Given the description of an element on the screen output the (x, y) to click on. 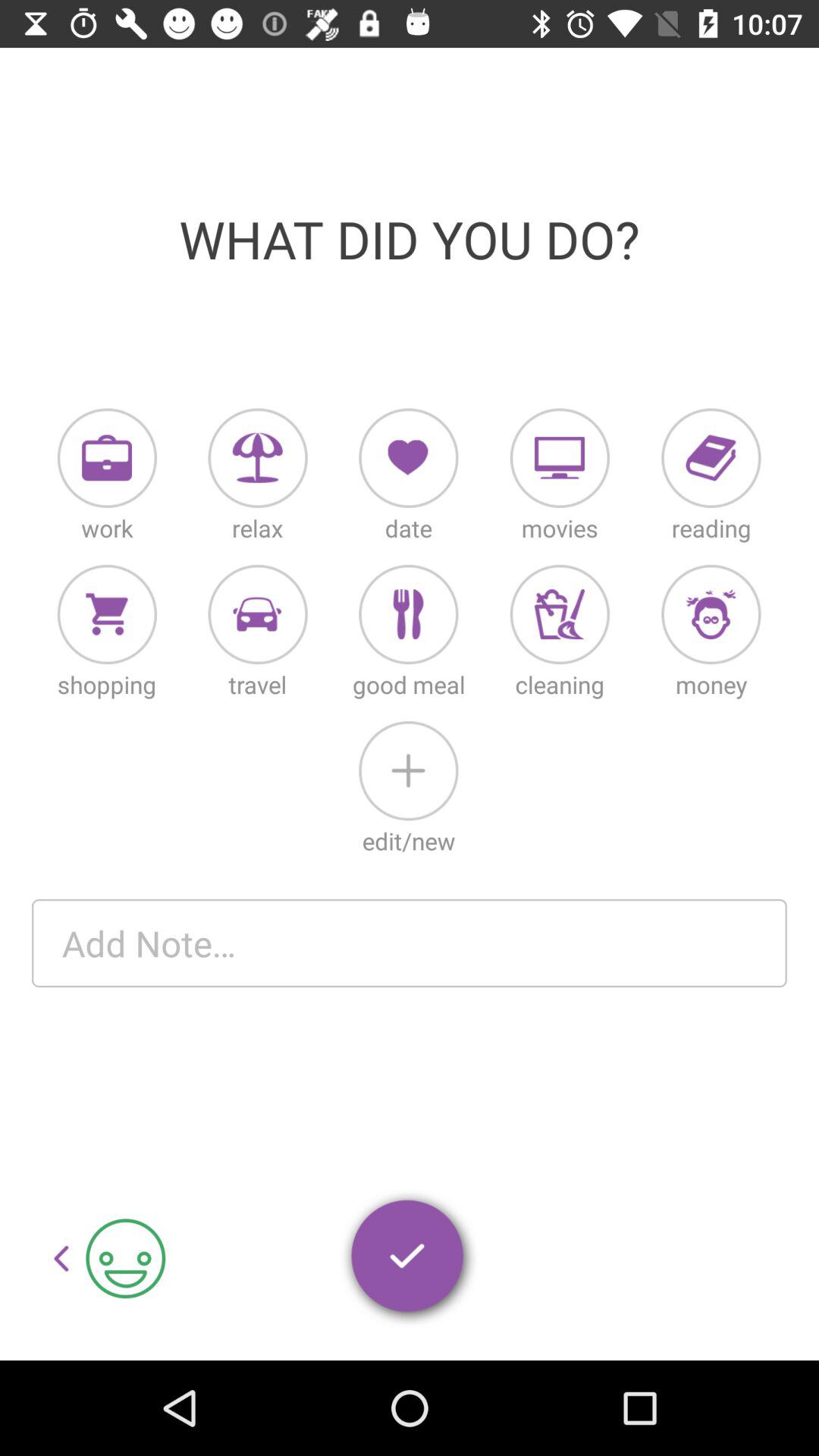
select work (106, 457)
